Given the description of an element on the screen output the (x, y) to click on. 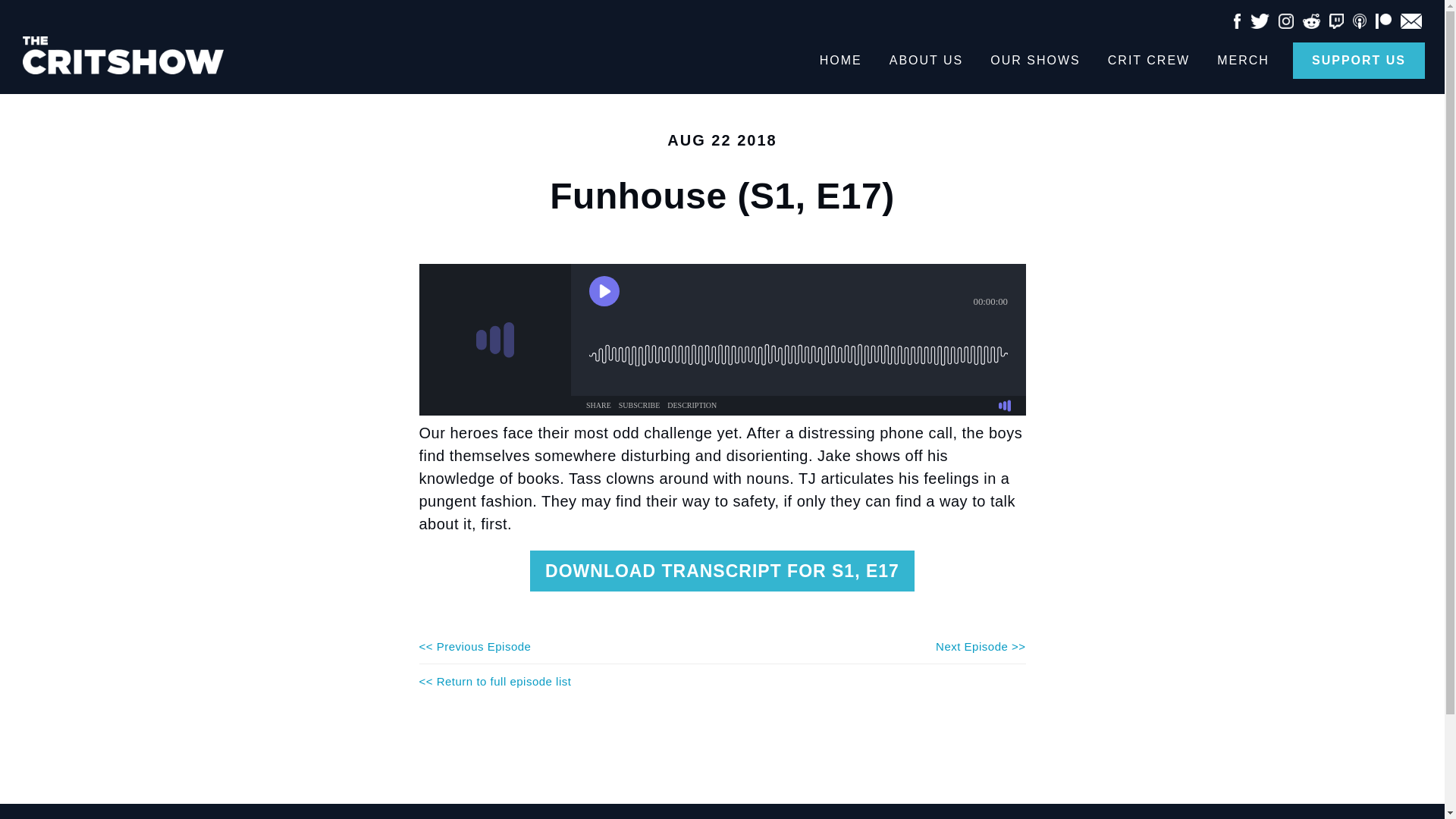
MERCH (1243, 61)
ABOUT US (926, 61)
HOME (840, 61)
THE CRITSHOW (136, 55)
OUR SHOWS (1034, 61)
CRIT CREW (1148, 61)
